Given the description of an element on the screen output the (x, y) to click on. 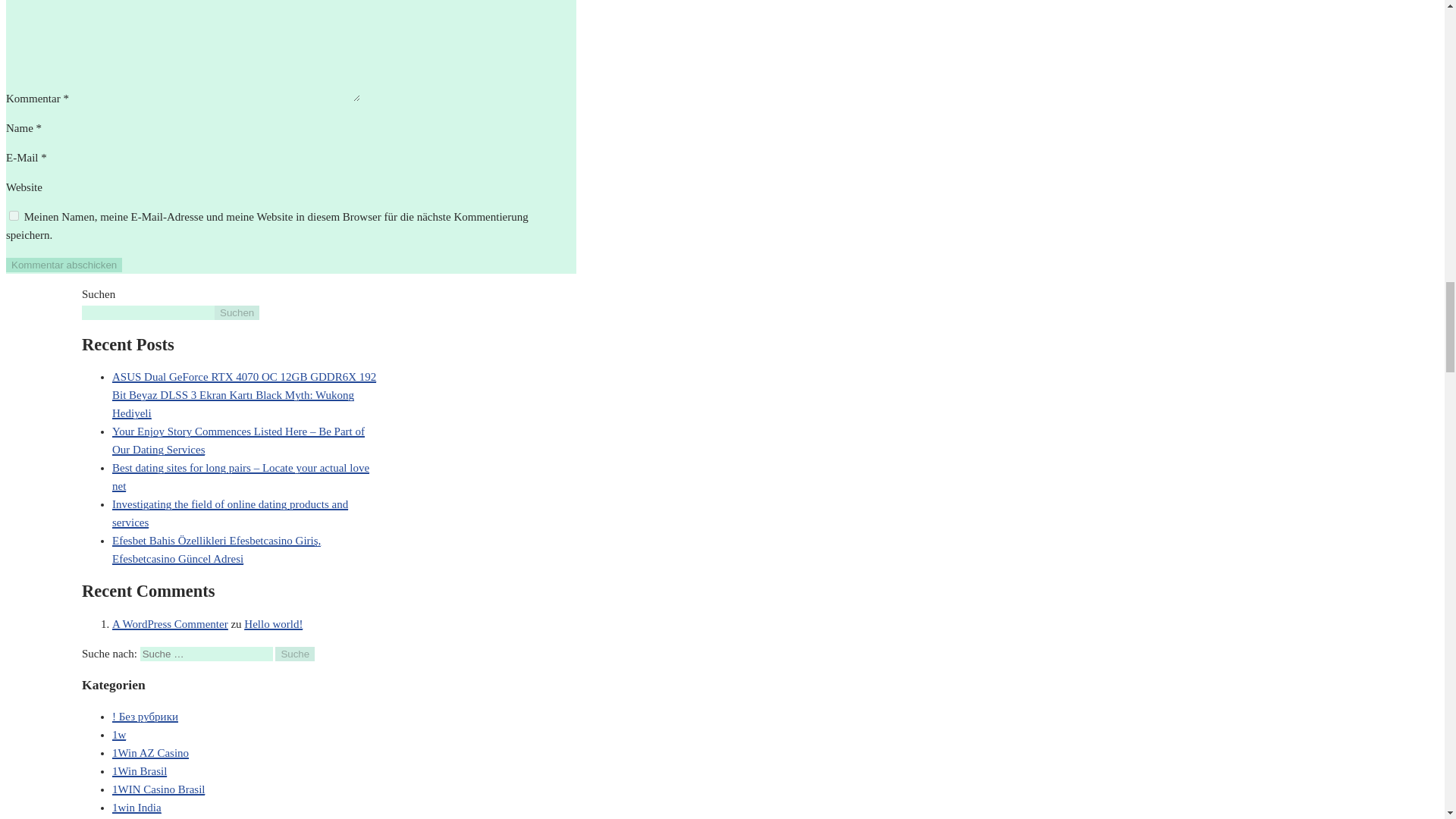
Kommentar abschicken (63, 264)
yes (13, 215)
Suche (294, 653)
Suche (294, 653)
